Given the description of an element on the screen output the (x, y) to click on. 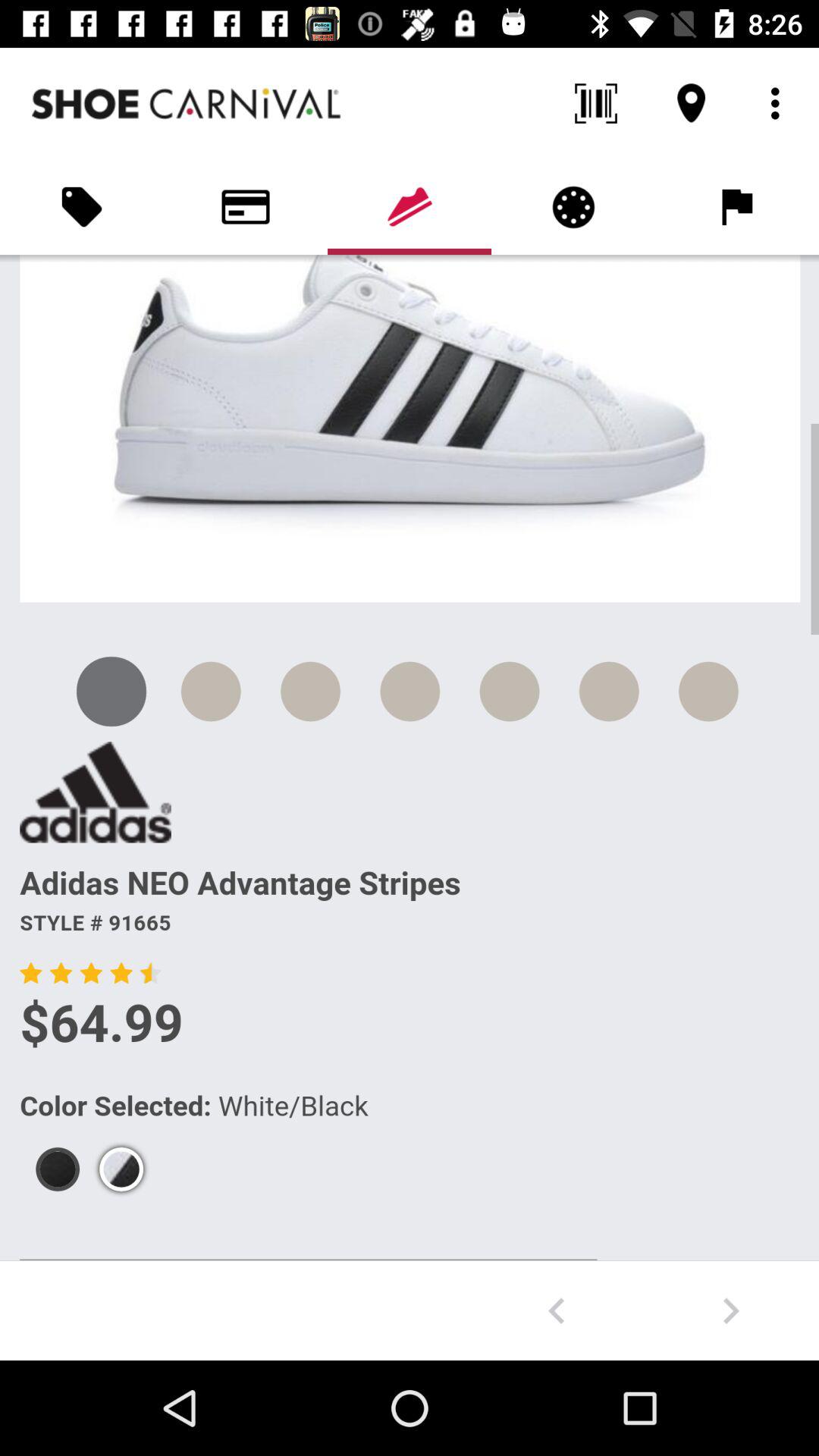
previous product (555, 1310)
